Given the description of an element on the screen output the (x, y) to click on. 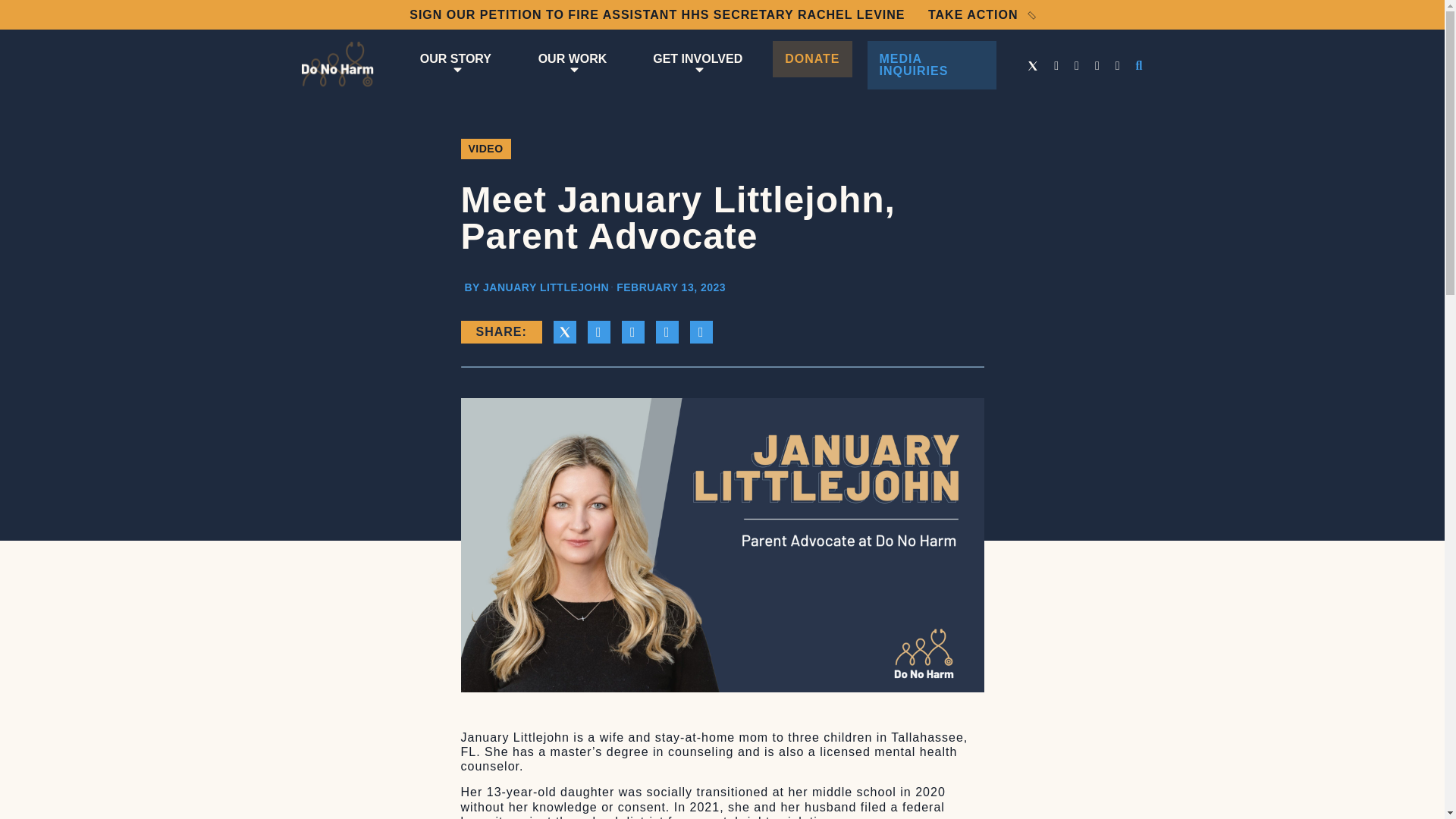
MEDIA INQUIRIES (932, 64)
TAKE ACTION (981, 14)
DONATE (812, 58)
OUR STORY (455, 64)
Twitter (1032, 65)
GET INVOLVED (697, 64)
OUR WORK (572, 64)
